Given the description of an element on the screen output the (x, y) to click on. 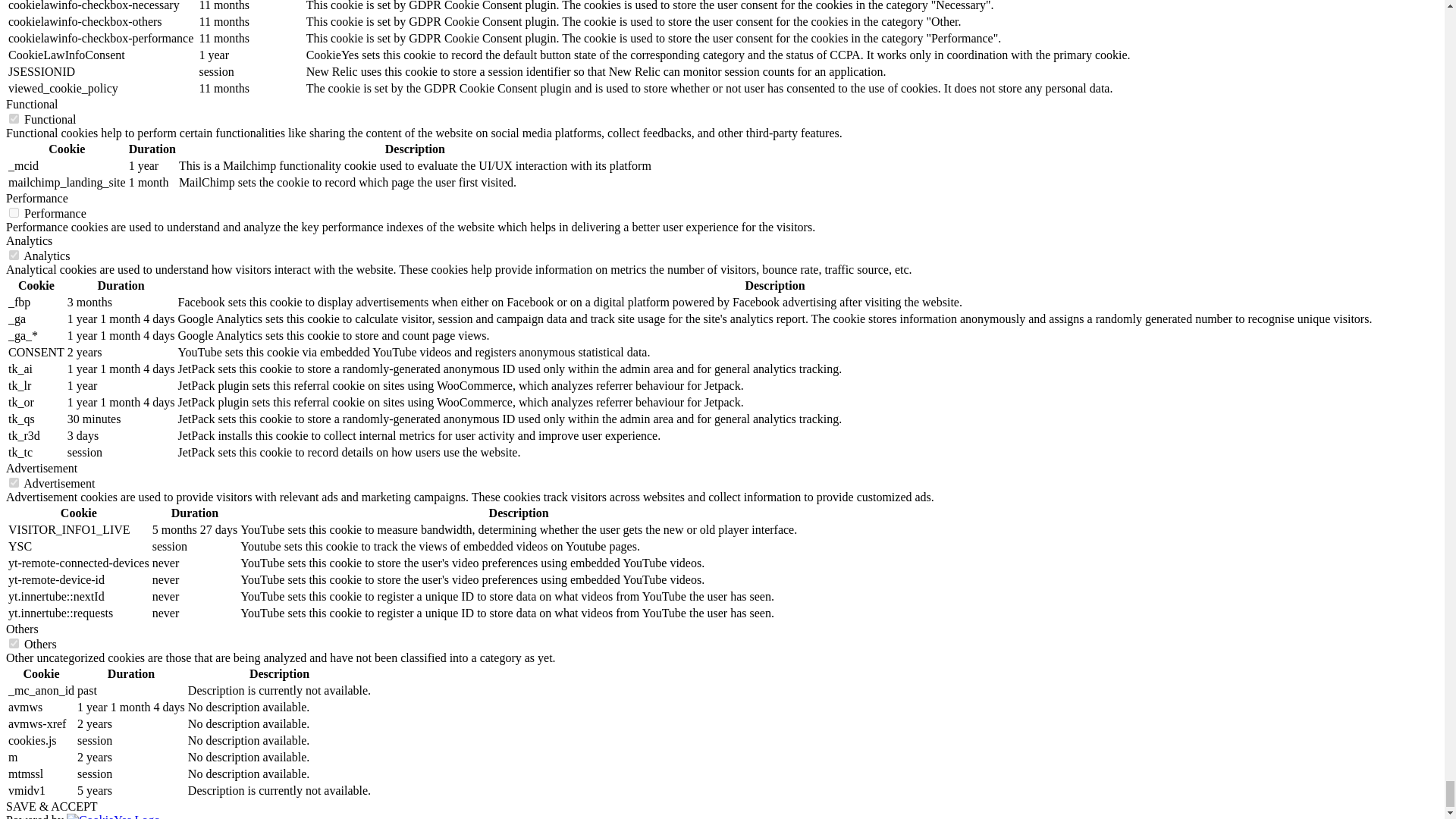
on (13, 212)
on (13, 643)
on (13, 118)
on (13, 482)
on (13, 255)
